Given the description of an element on the screen output the (x, y) to click on. 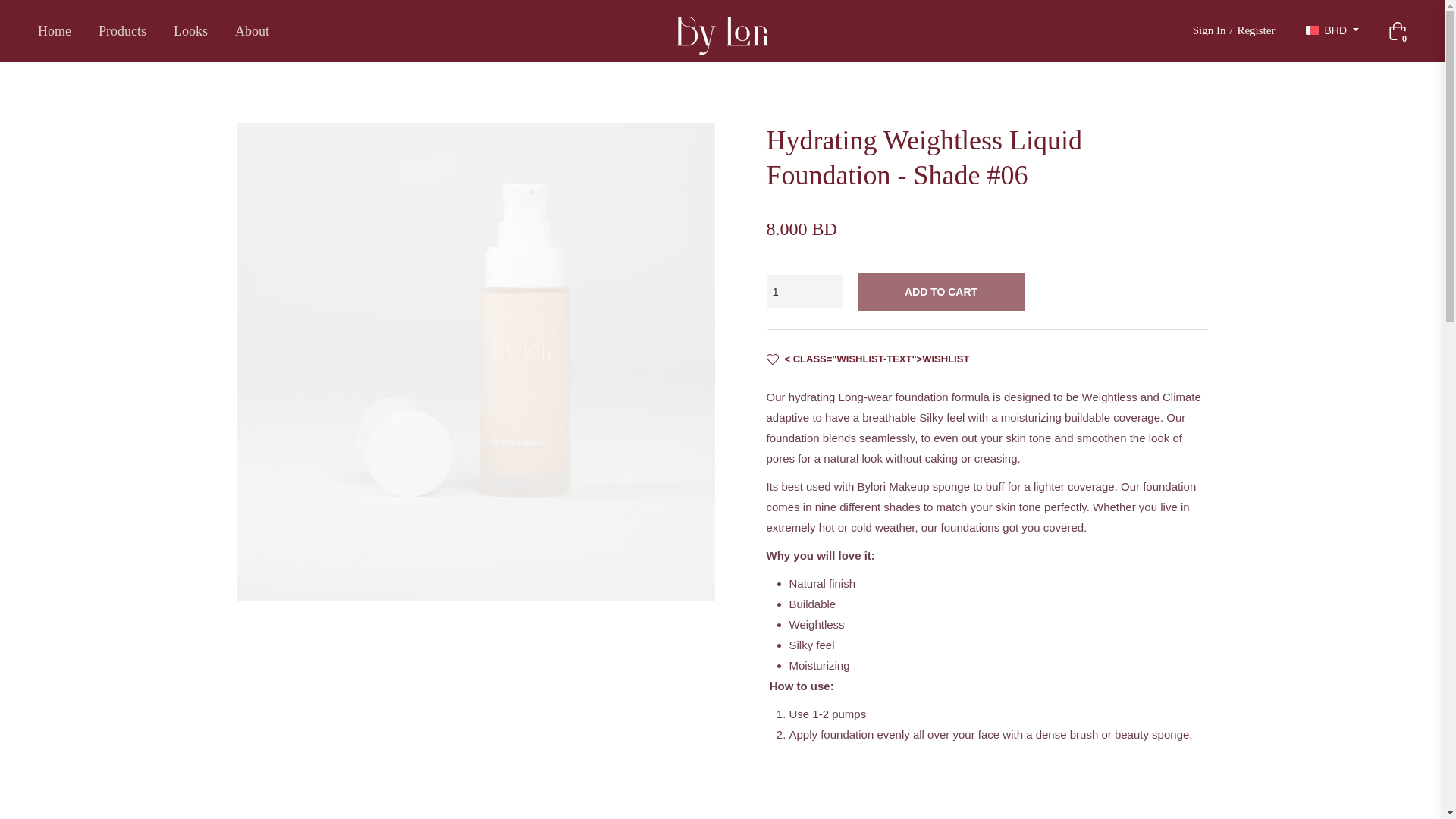
Shopping Cart (1397, 31)
Currencies (1332, 31)
Register (1259, 30)
ADD TO CART (941, 291)
1 (803, 291)
Products (122, 30)
About (251, 30)
Sign In (1205, 30)
Looks (190, 30)
Wishlist (867, 358)
